Given the description of an element on the screen output the (x, y) to click on. 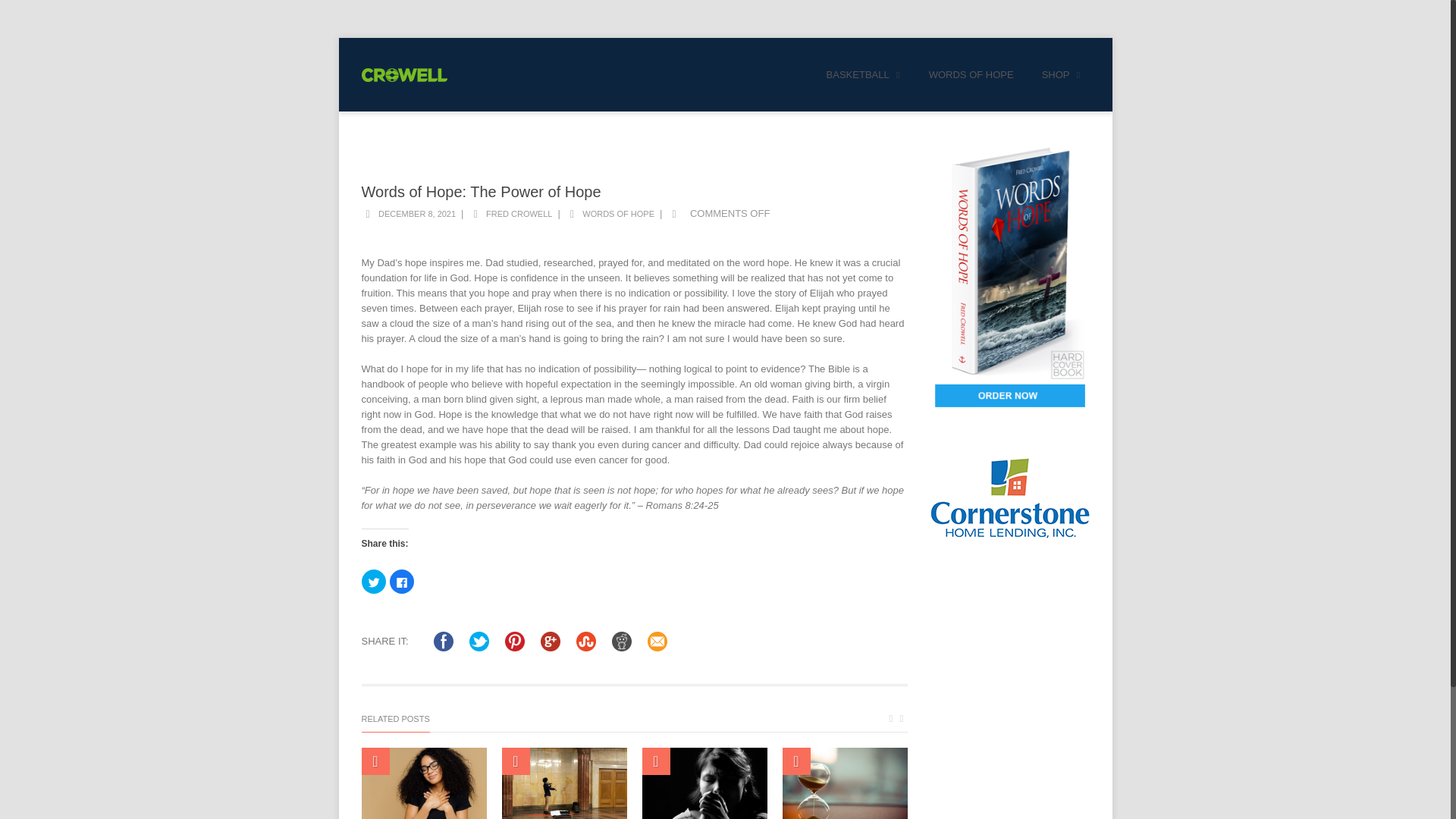
Share on Google Plus (550, 641)
Posts by Fred Crowell (518, 213)
Click to share on Twitter (373, 581)
Crowell University (403, 74)
Click to share on Facebook (401, 581)
Share on StumbleUpon (585, 641)
Share on Reddit (621, 641)
Pin on Pinterest (514, 641)
